Given the description of an element on the screen output the (x, y) to click on. 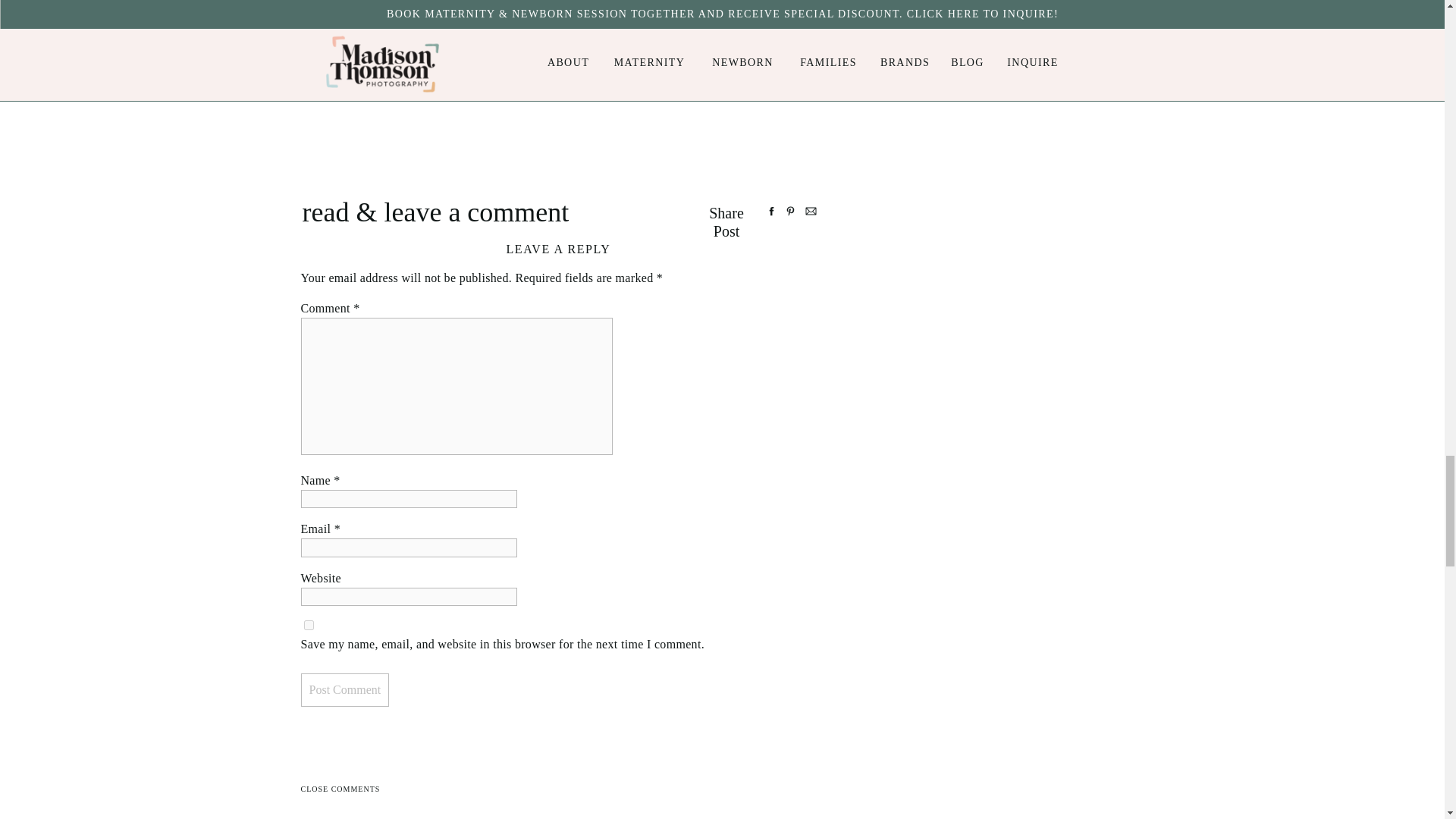
yes (307, 624)
Post Comment (343, 689)
Post Comment (343, 689)
